Given the description of an element on the screen output the (x, y) to click on. 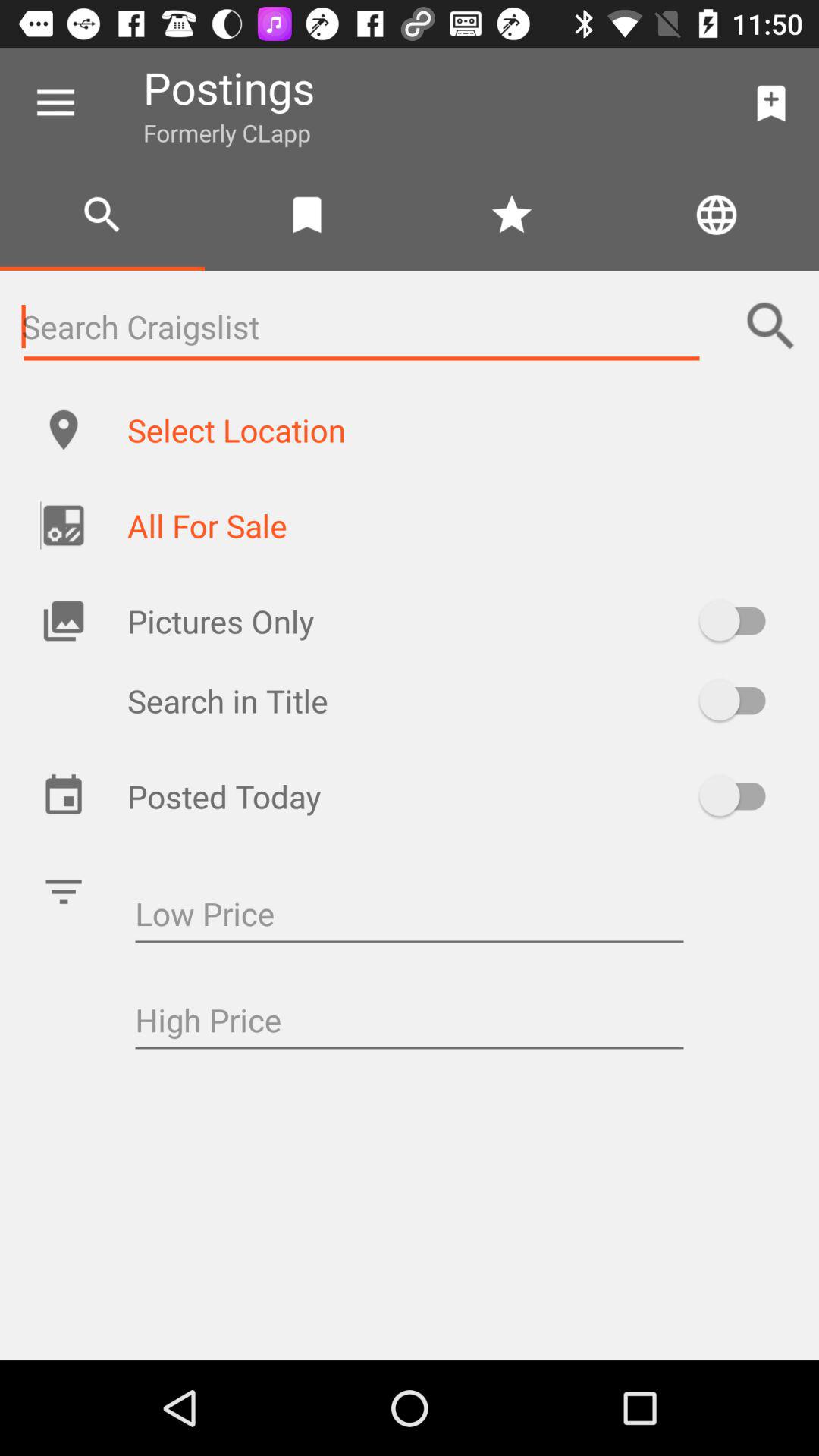
choose icon next to the postings icon (771, 103)
